Given the description of an element on the screen output the (x, y) to click on. 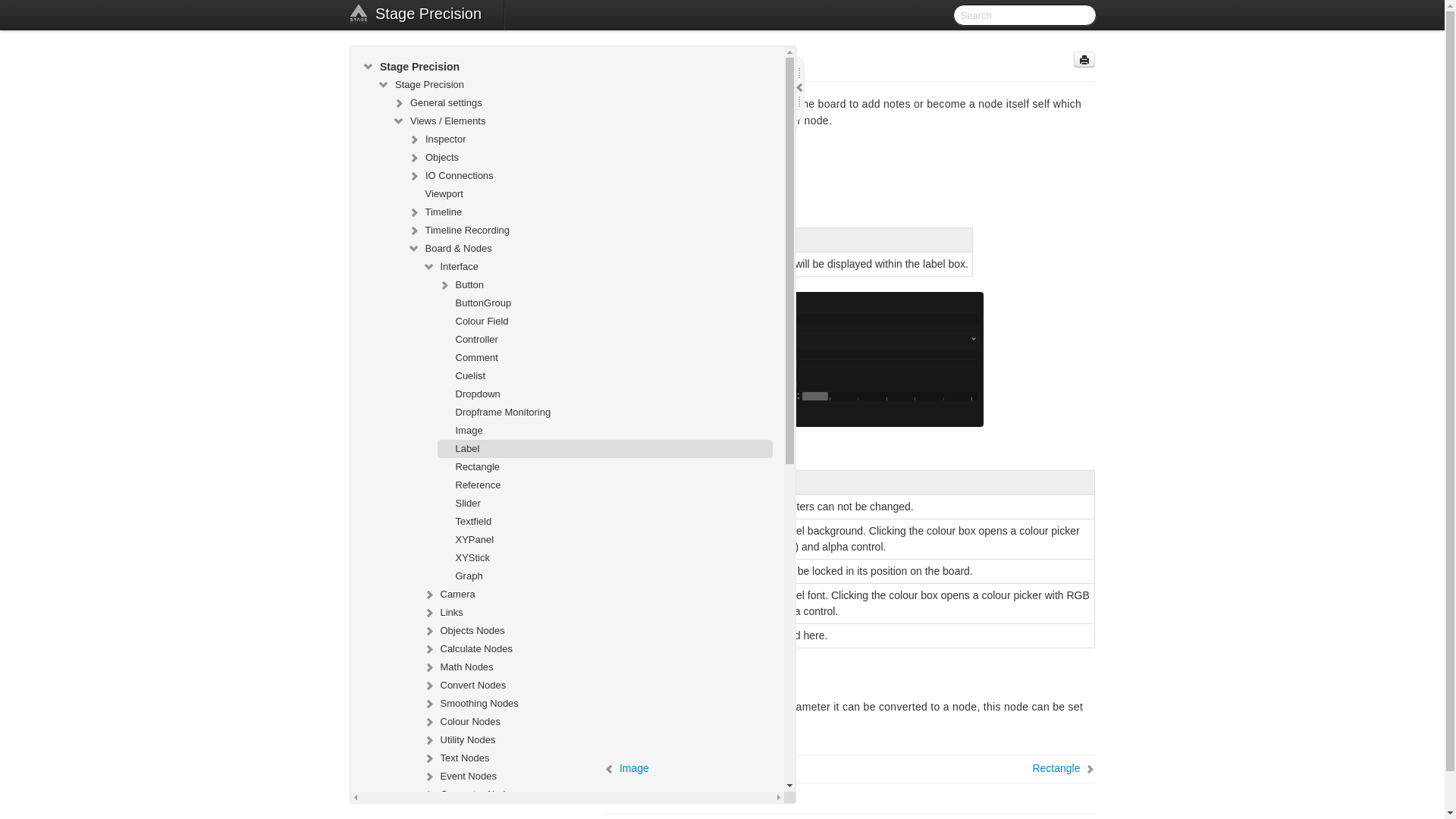
Print page (1084, 59)
Stage Precision (427, 15)
